Given the description of an element on the screen output the (x, y) to click on. 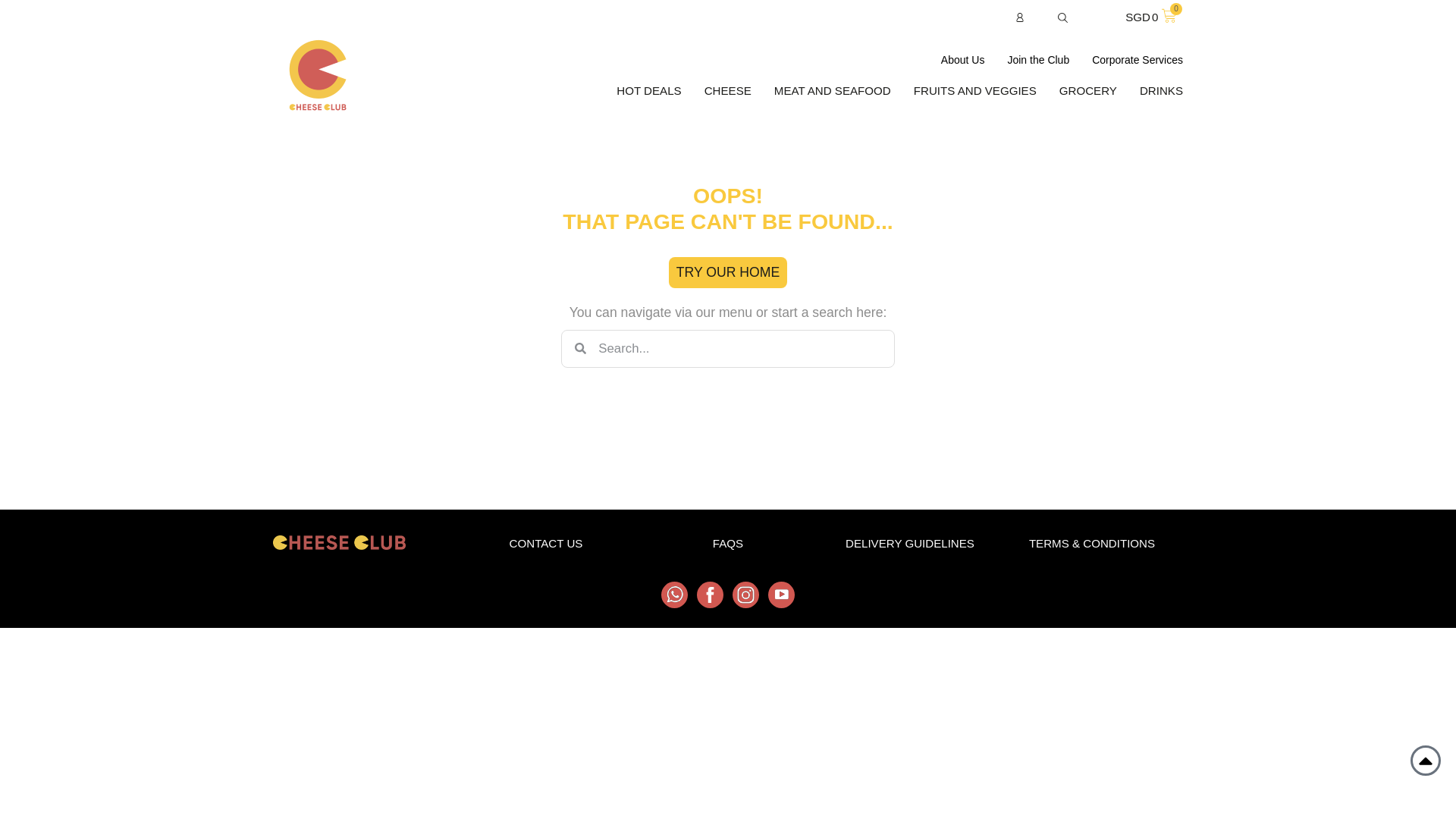
MEAT AND SEAFOOD (832, 90)
About Us (962, 60)
HOT DEALS (648, 90)
Join the Club (1037, 60)
Corporate Services (1149, 17)
CHEESE (1137, 60)
